Given the description of an element on the screen output the (x, y) to click on. 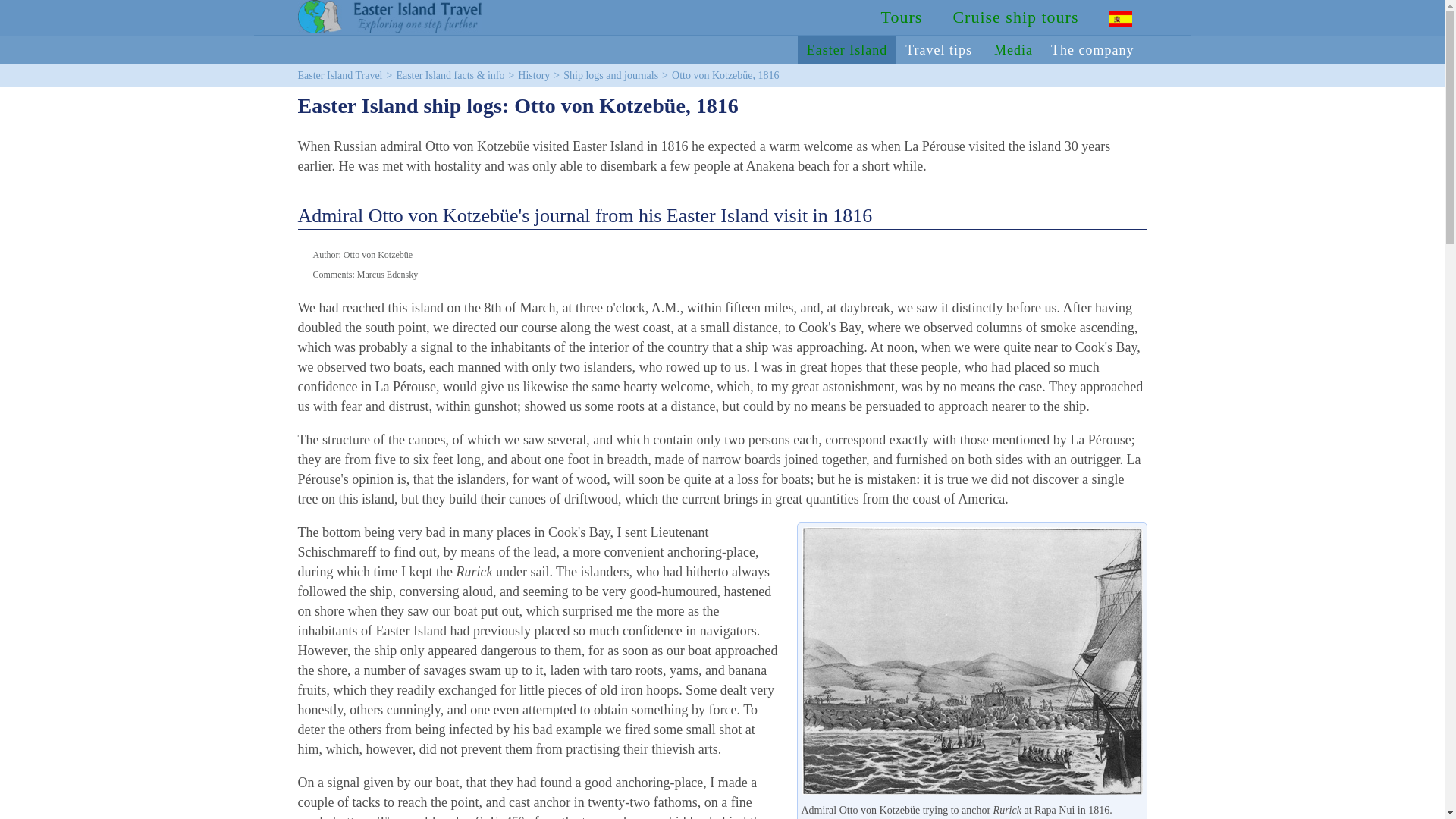
History (534, 75)
Media (1013, 50)
Easter Island Travel (339, 75)
Easter Island (846, 50)
Tours (901, 17)
Travel tips (940, 50)
The company (1094, 50)
Ship logs and journals (610, 75)
Cruise ship tours (1015, 17)
